Given the description of an element on the screen output the (x, y) to click on. 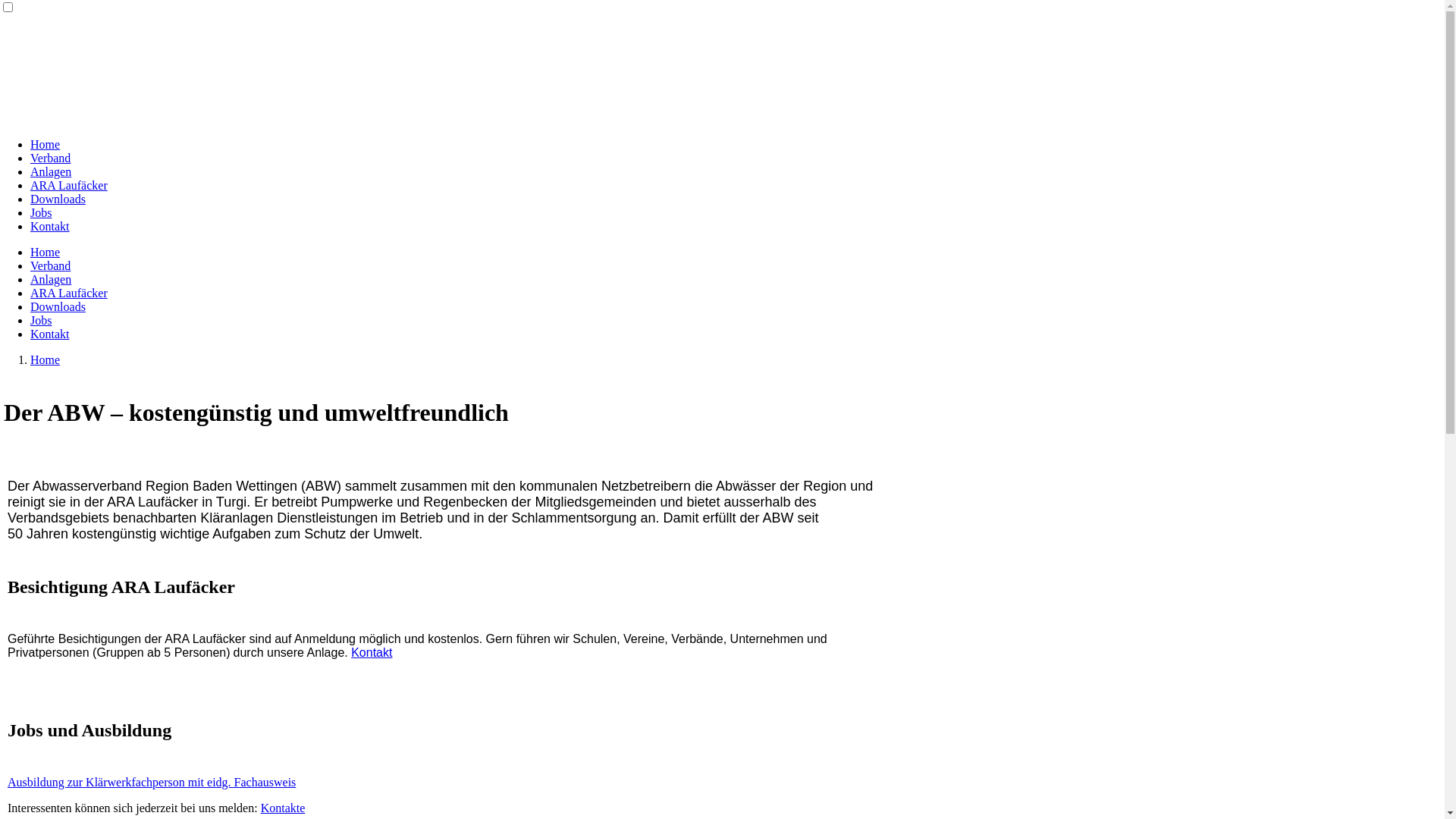
Verband Element type: text (50, 265)
Jobs Element type: text (40, 212)
Kontakte Element type: text (282, 806)
Home Element type: text (44, 144)
Kontakt Element type: text (49, 225)
Verband Element type: text (50, 157)
Home Element type: text (44, 359)
Kontakt Element type: text (371, 652)
Home Element type: text (44, 251)
Kontakt Element type: text (49, 333)
Anlagen Element type: text (50, 279)
Jobs Element type: text (40, 319)
Anlagen Element type: text (50, 171)
Downloads Element type: text (57, 306)
Downloads Element type: text (57, 198)
